Given the description of an element on the screen output the (x, y) to click on. 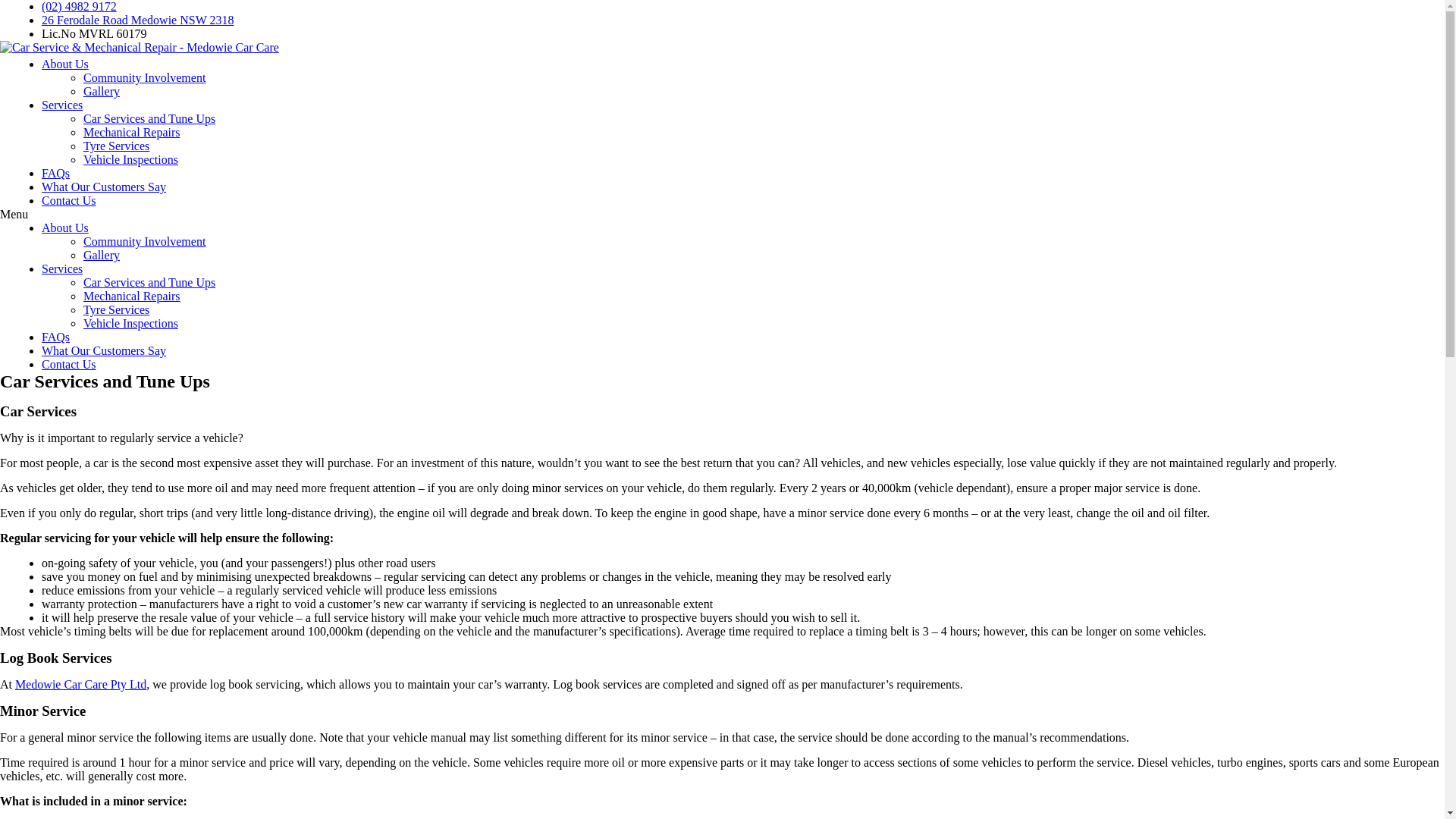
About Us Element type: text (64, 227)
Vehicle Inspections Element type: text (130, 322)
Community Involvement Element type: text (144, 241)
About Us Element type: text (64, 63)
Gallery Element type: text (101, 254)
Gallery Element type: text (101, 90)
Tyre Services Element type: text (116, 309)
(02) 4982 9172 Element type: text (78, 6)
What Our Customers Say Element type: text (103, 350)
FAQs Element type: text (55, 172)
Vehicle Inspections Element type: text (130, 159)
Car Services and Tune Ups Element type: text (149, 118)
Mechanical Repairs Element type: text (131, 131)
Contact Us Element type: text (68, 363)
What Our Customers Say Element type: text (103, 186)
Tyre Services Element type: text (116, 145)
Contact Us Element type: text (68, 200)
Mechanical Repairs Element type: text (131, 295)
Car Services and Tune Ups Element type: text (149, 282)
Community Involvement Element type: text (144, 77)
FAQs Element type: text (55, 336)
Services Element type: text (61, 104)
Medowie Car Care Pty Ltd Element type: text (80, 683)
26 Ferodale Road Medowie NSW 2318 Element type: text (137, 19)
Services Element type: text (61, 268)
